Given the description of an element on the screen output the (x, y) to click on. 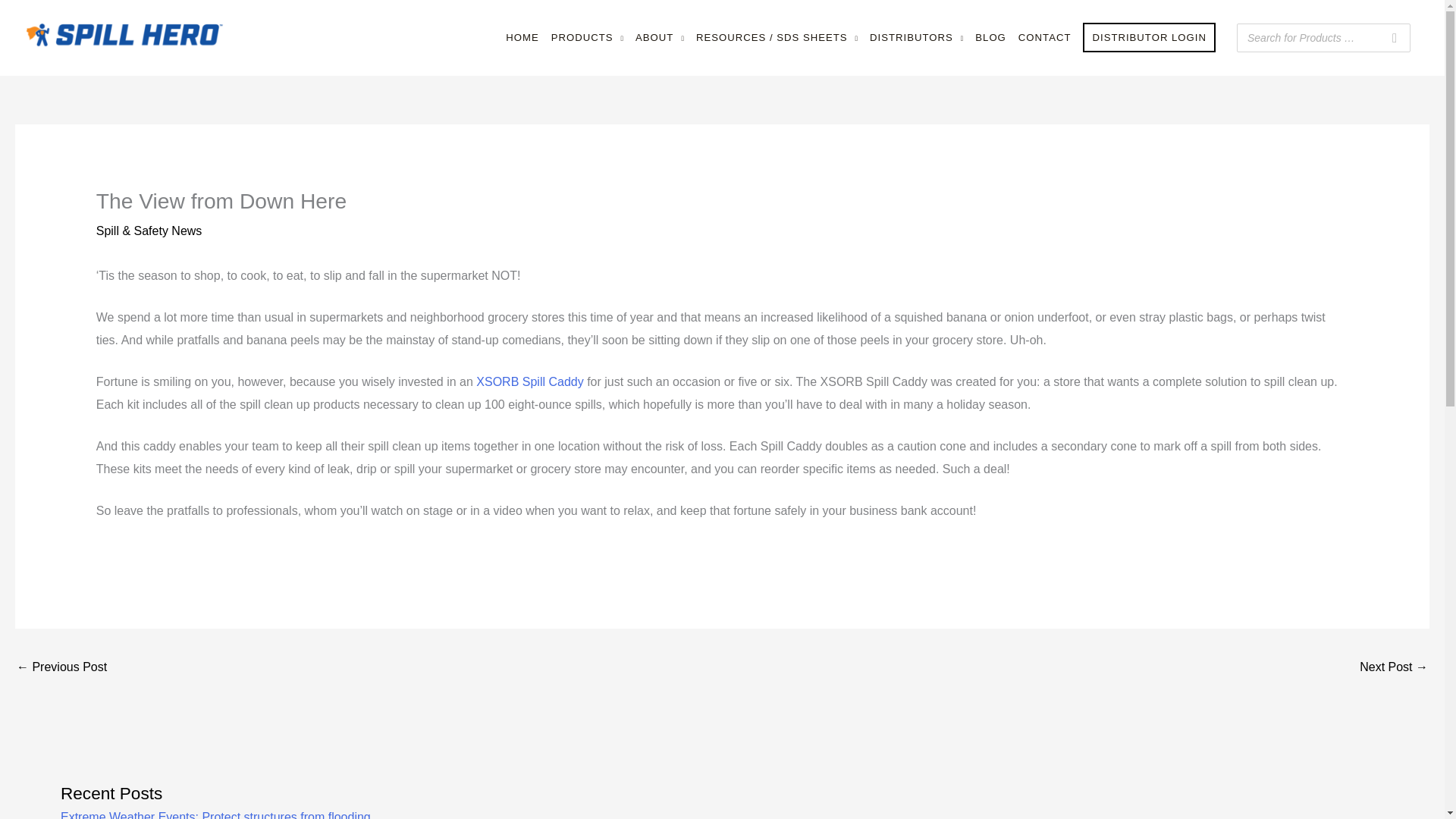
HOME (521, 37)
ABOUT (659, 37)
XSORB Spill Caddy (529, 381)
DISTRIBUTOR LOGIN (1149, 37)
Solid, Dude! (1393, 668)
DISTRIBUTORS (916, 37)
BLOG (990, 37)
Something Fishy Going On? (61, 668)
PRODUCTS (586, 37)
Extreme Weather Events: Protect structures from flooding (216, 814)
